Given the description of an element on the screen output the (x, y) to click on. 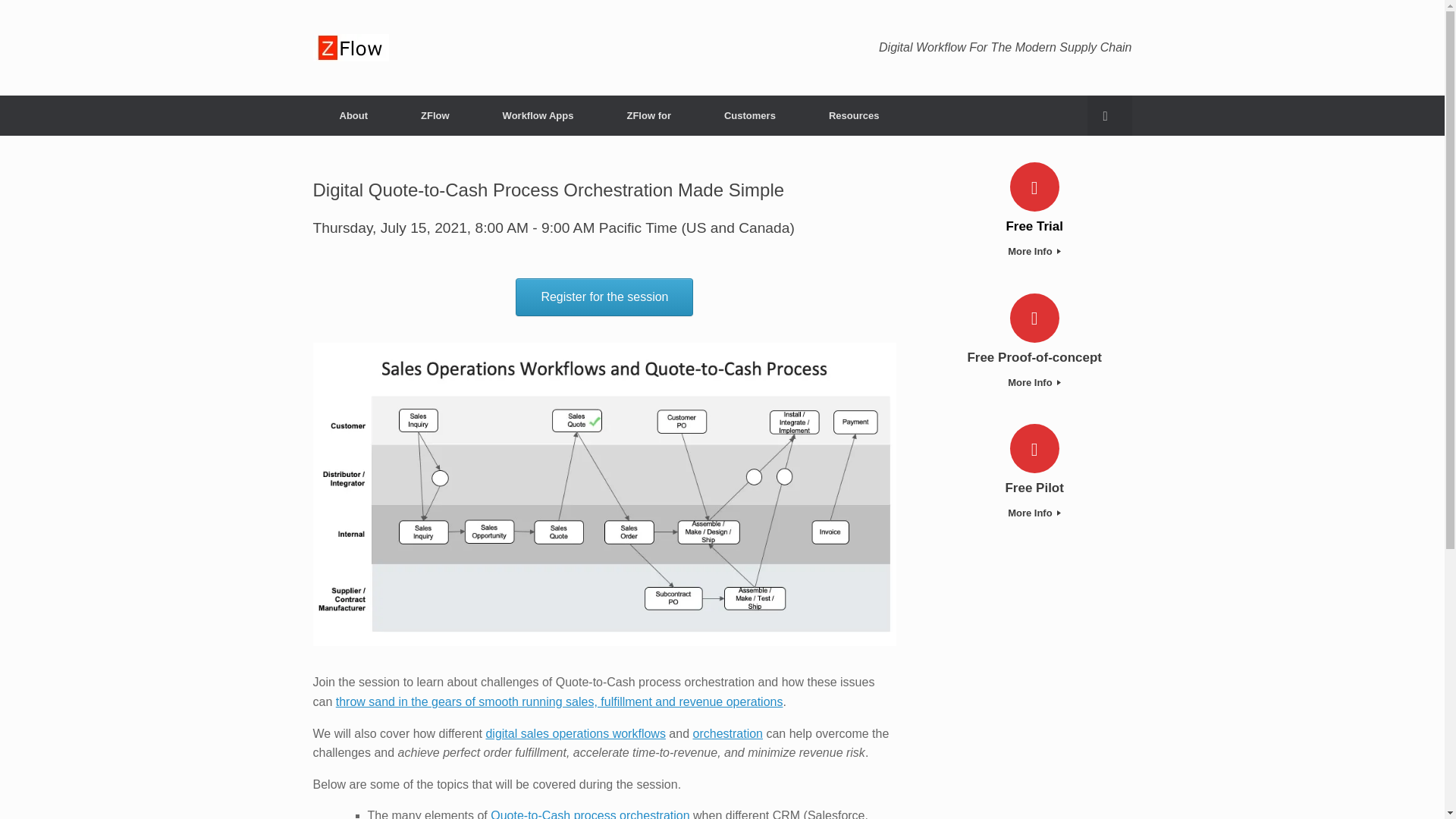
About (353, 115)
ZFlow (435, 115)
ZFlow (350, 47)
Workflow Apps (537, 115)
